Given the description of an element on the screen output the (x, y) to click on. 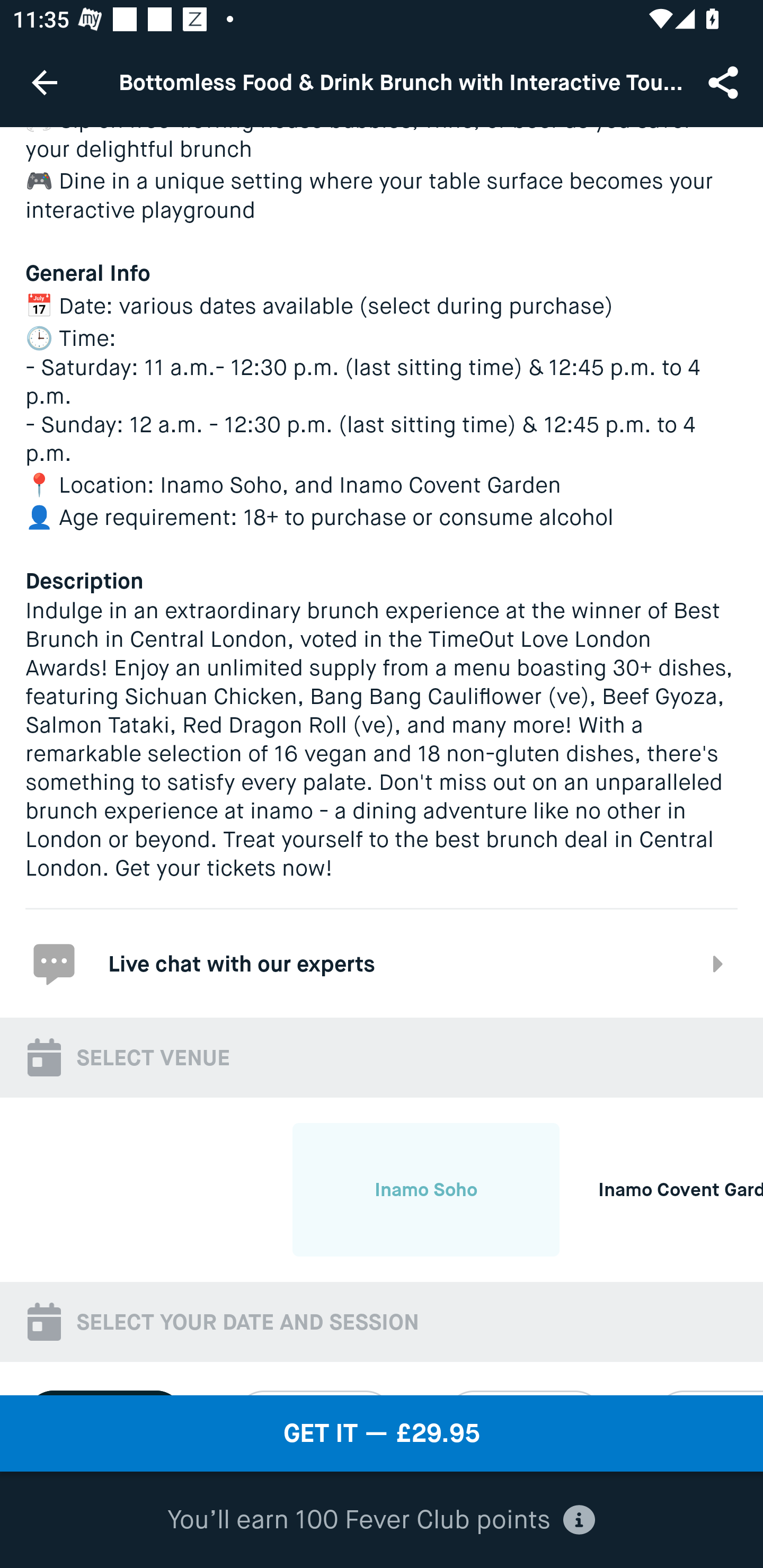
Navigate up (44, 82)
Share (724, 81)
Live chat with our experts (381, 962)
Inamo Soho (425, 1188)
Inamo Covent Garden (661, 1188)
GET IT — £29.95 (381, 1433)
You’ll earn 100 Fever Club points (381, 1519)
